Given the description of an element on the screen output the (x, y) to click on. 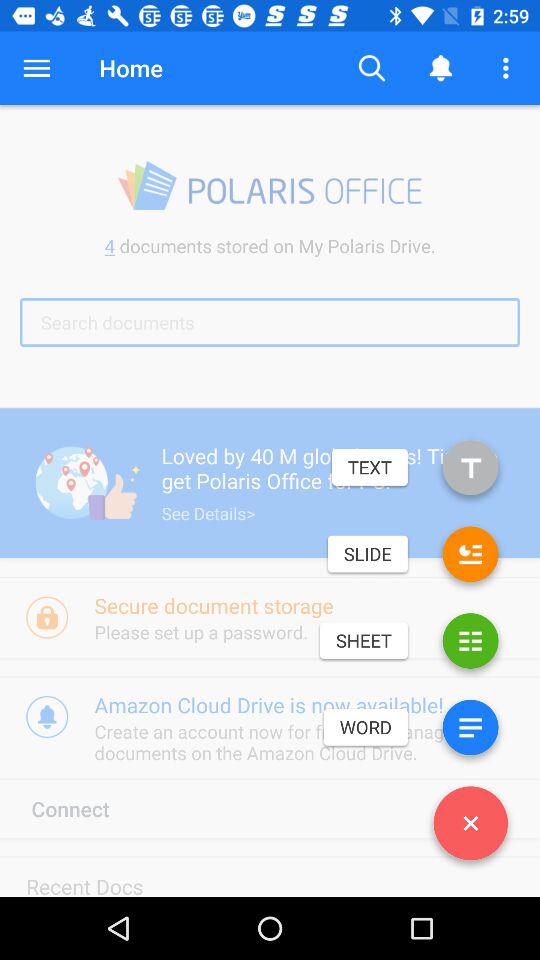
tap the item to the right of the text icon (470, 471)
